Given the description of an element on the screen output the (x, y) to click on. 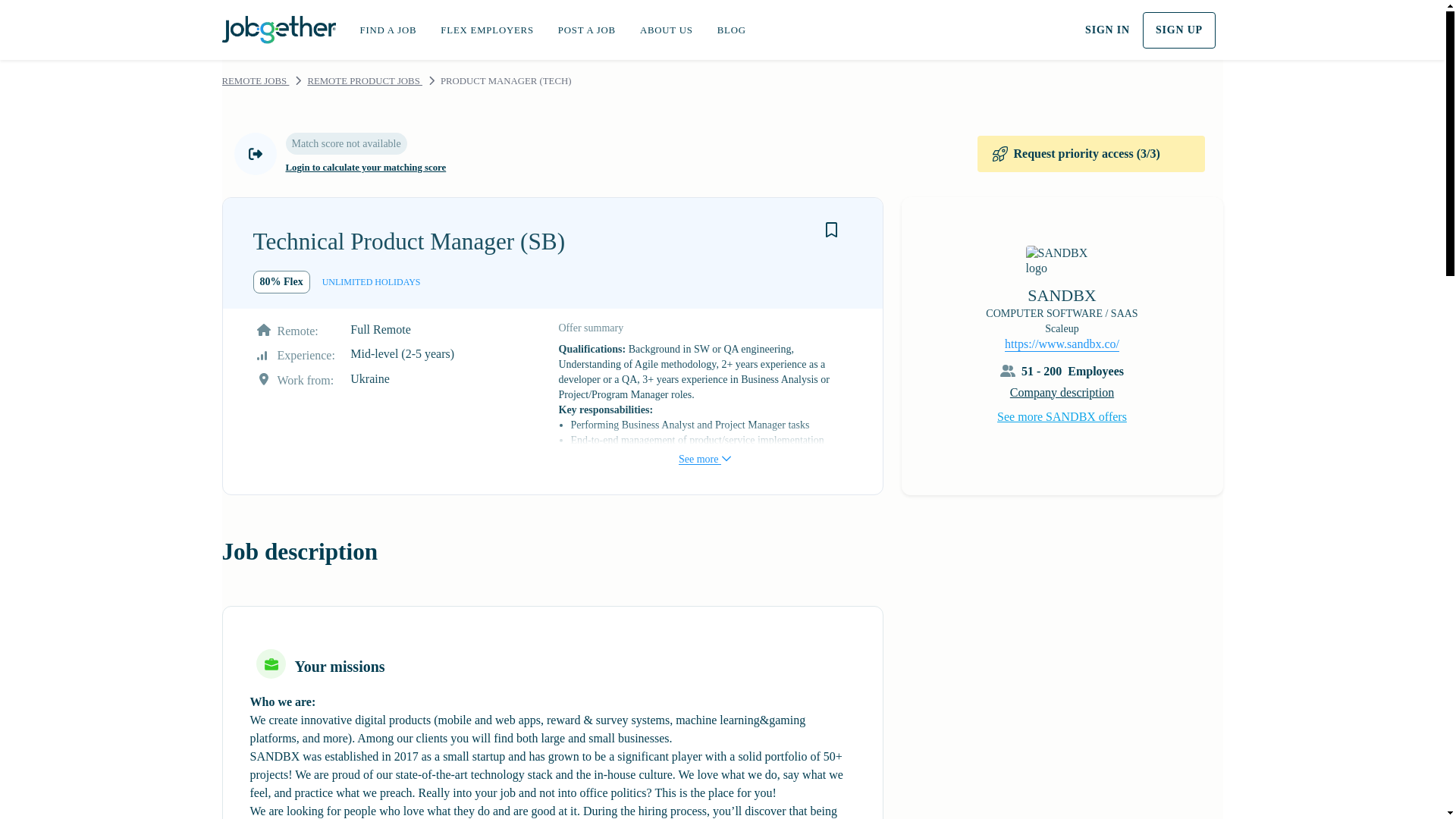
SIGN IN (1106, 30)
FIND A JOB (387, 29)
BLOG (731, 29)
SIGN UP (1178, 30)
POST A JOB (586, 29)
Company description (1061, 391)
See more (704, 443)
ABOUT US (666, 29)
Login to calculate your matching score (365, 167)
See more SANDBX offers (1061, 415)
REMOTE PRODUCT JOBS (364, 81)
REMOTE JOBS (254, 81)
Return to home page (277, 27)
